Given the description of an element on the screen output the (x, y) to click on. 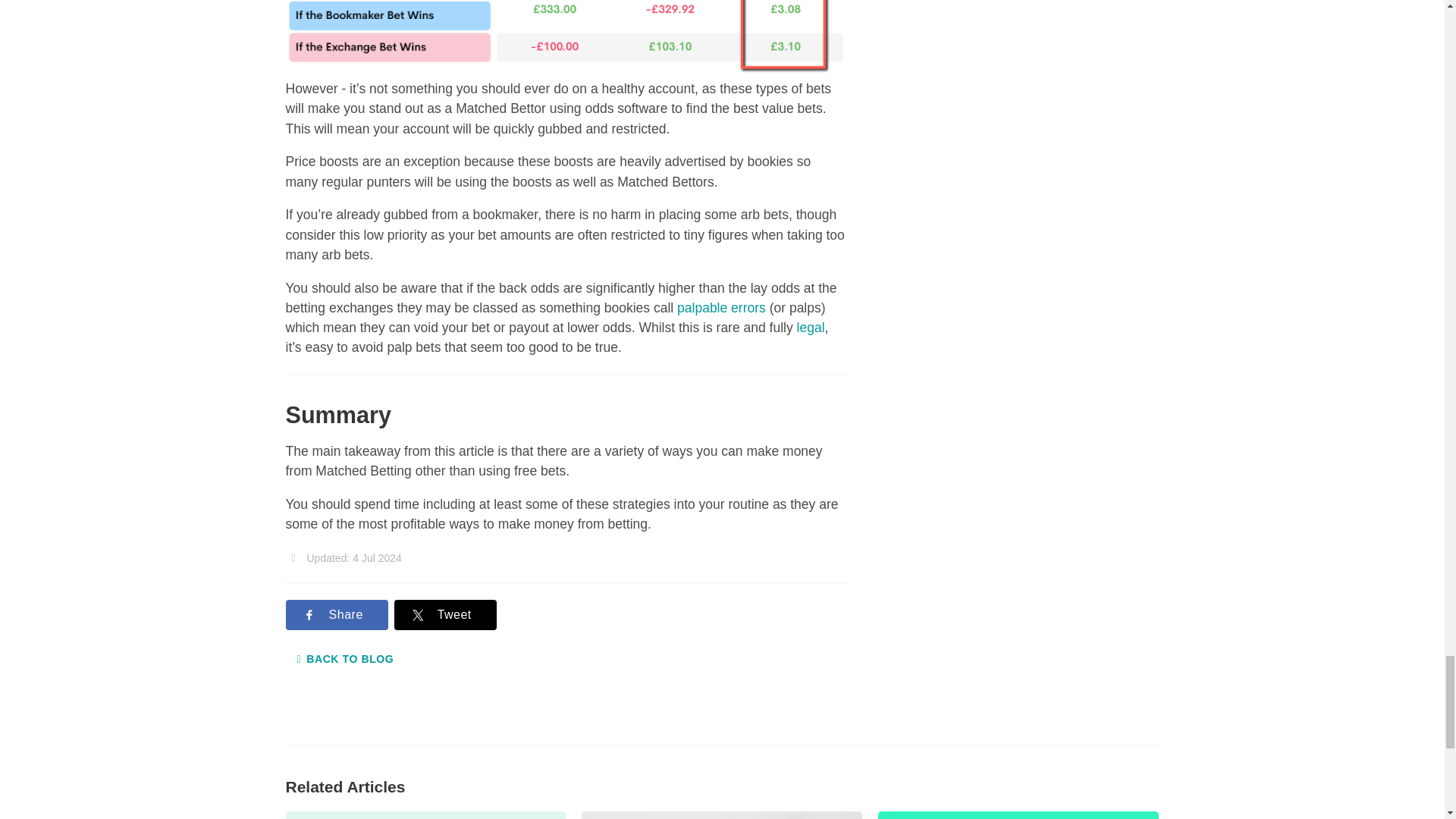
legal (810, 327)
BACK TO BLOG (344, 659)
palpable errors (721, 307)
